Given the description of an element on the screen output the (x, y) to click on. 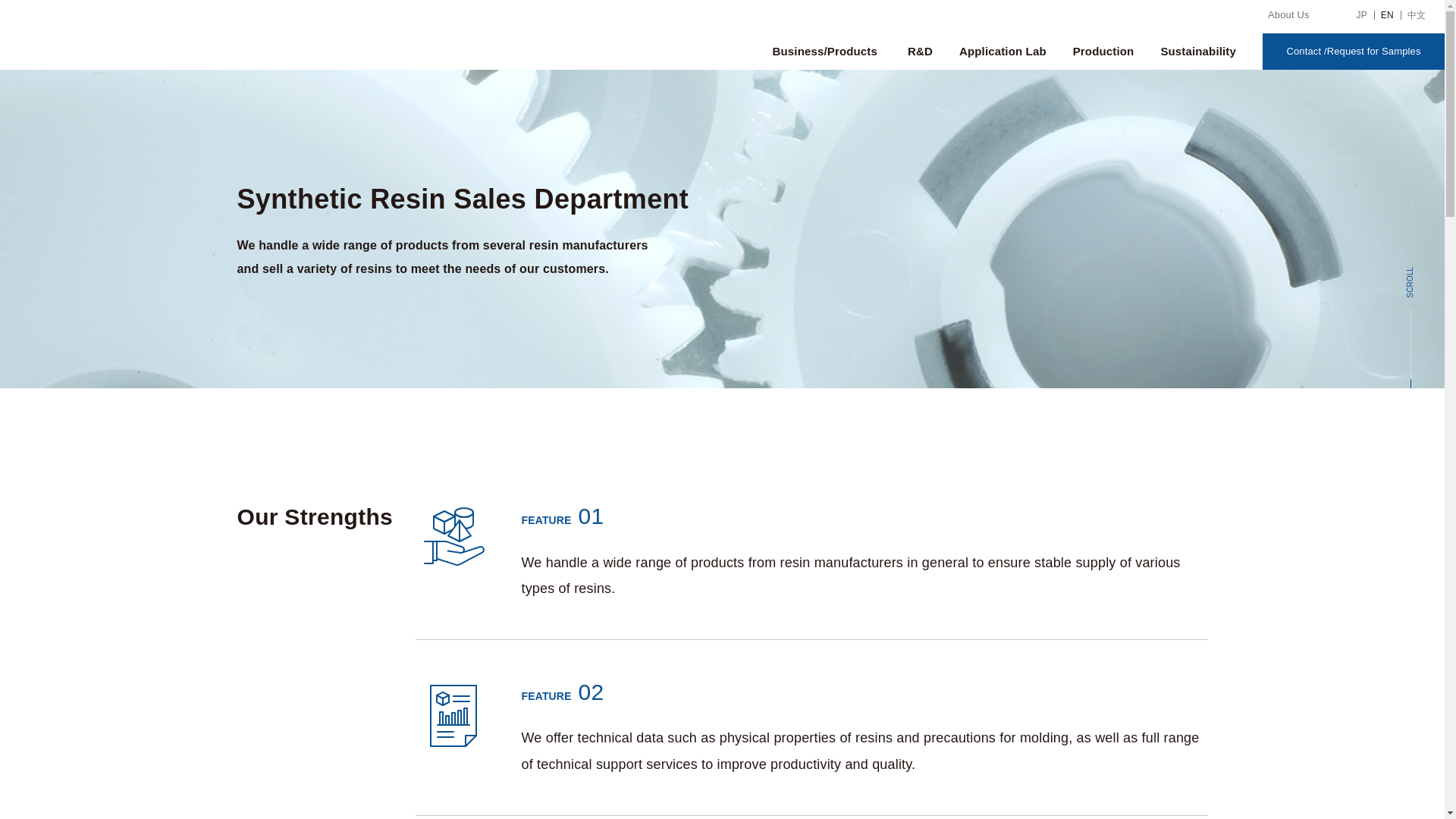
About Us (1288, 15)
Sustainability (1199, 51)
Application Lab (1002, 51)
Production (1103, 51)
JP (1361, 14)
EN (1386, 14)
